Given the description of an element on the screen output the (x, y) to click on. 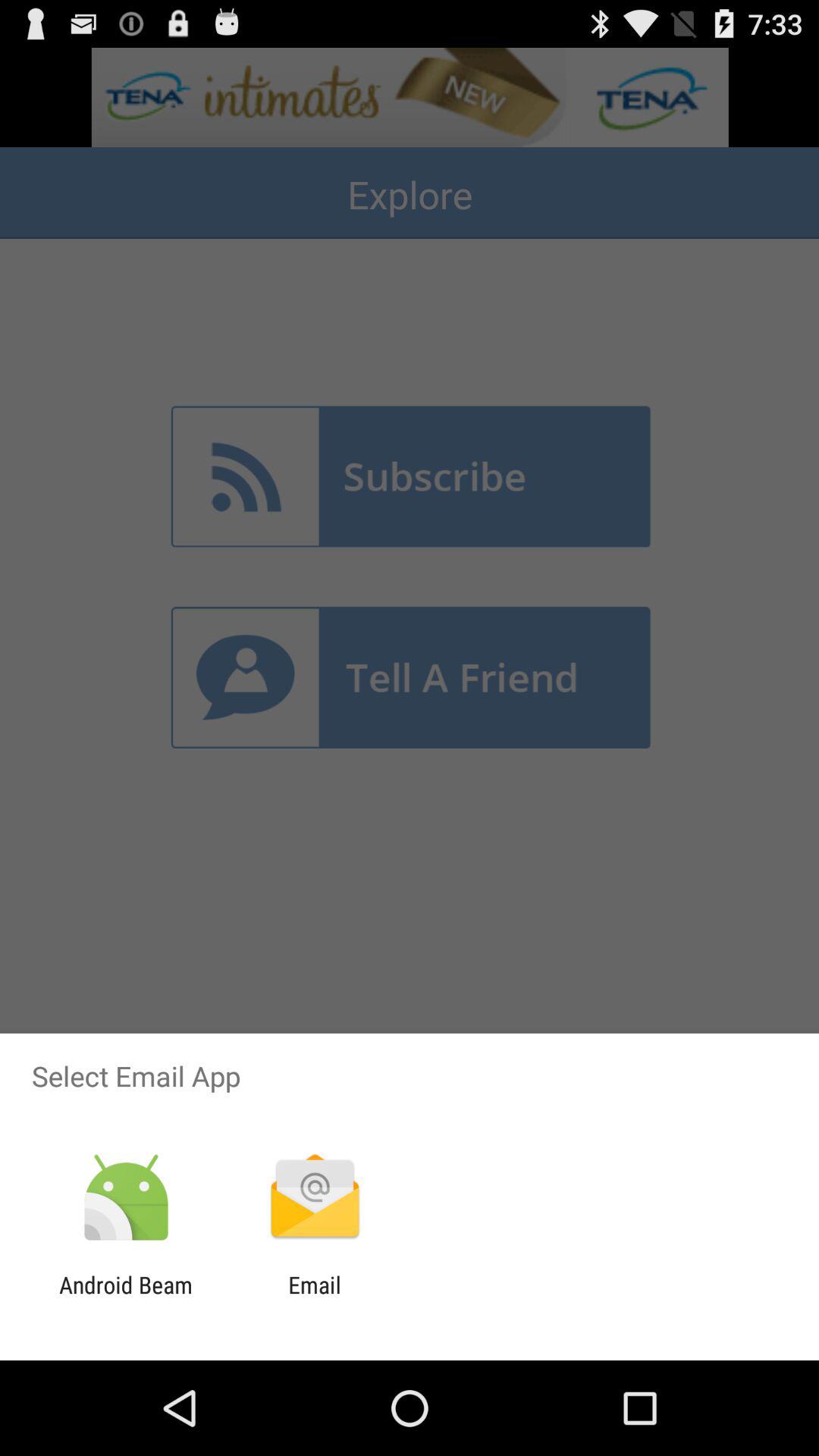
press the icon to the left of email item (125, 1298)
